Given the description of an element on the screen output the (x, y) to click on. 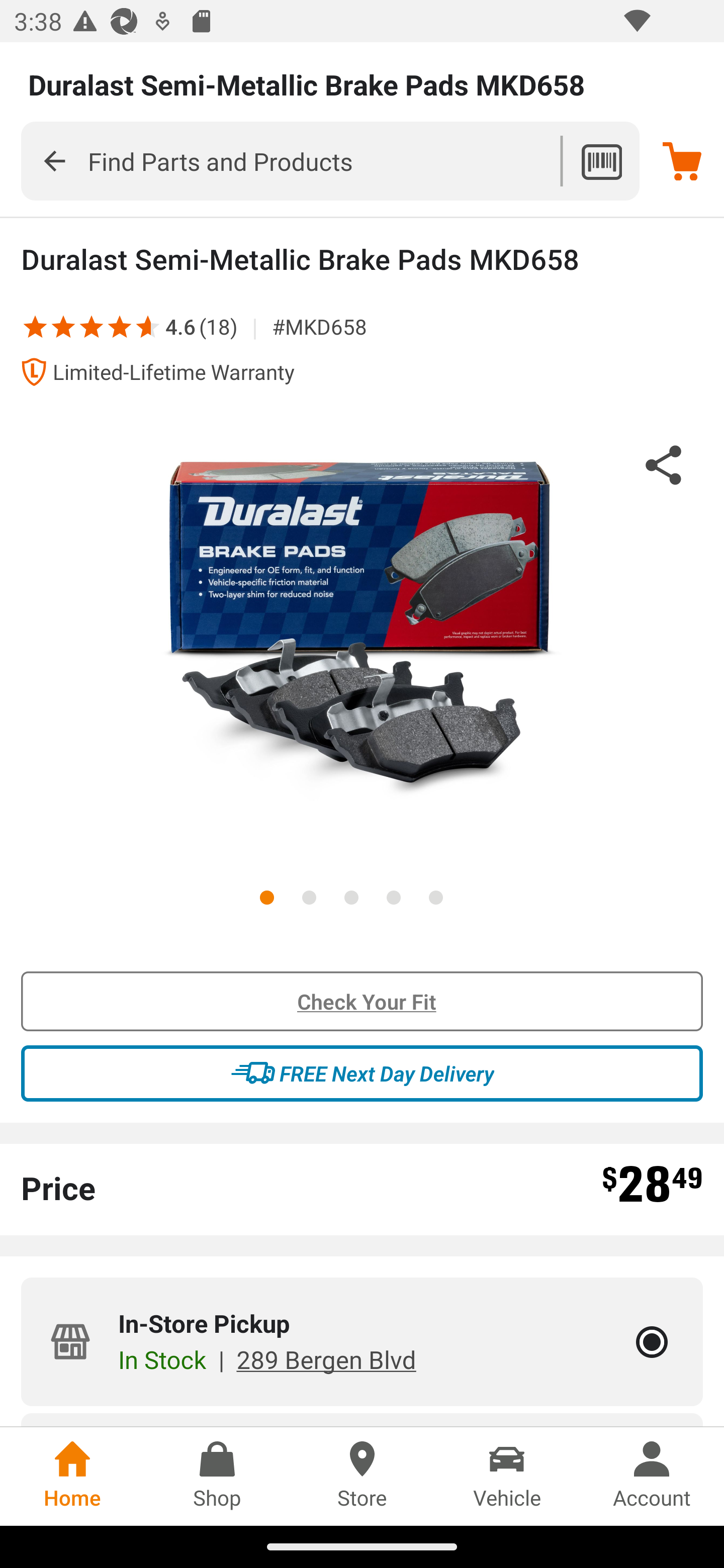
 scan-product-to-search  (601, 161)
 (54, 160)
Cart, no items  (681, 160)
 (34, 326)
 (63, 326)
 (91, 326)
 (119, 326)
 (141, 326)
share button (663, 468)
Check your fit Check Your Fit (361, 1001)
In-Store Pickup (651, 1341)
In Stock  |  289 Bergen Blvd (267, 1359)
Home (72, 1475)
Shop (216, 1475)
Store (361, 1475)
Vehicle (506, 1475)
Account (651, 1475)
